Given the description of an element on the screen output the (x, y) to click on. 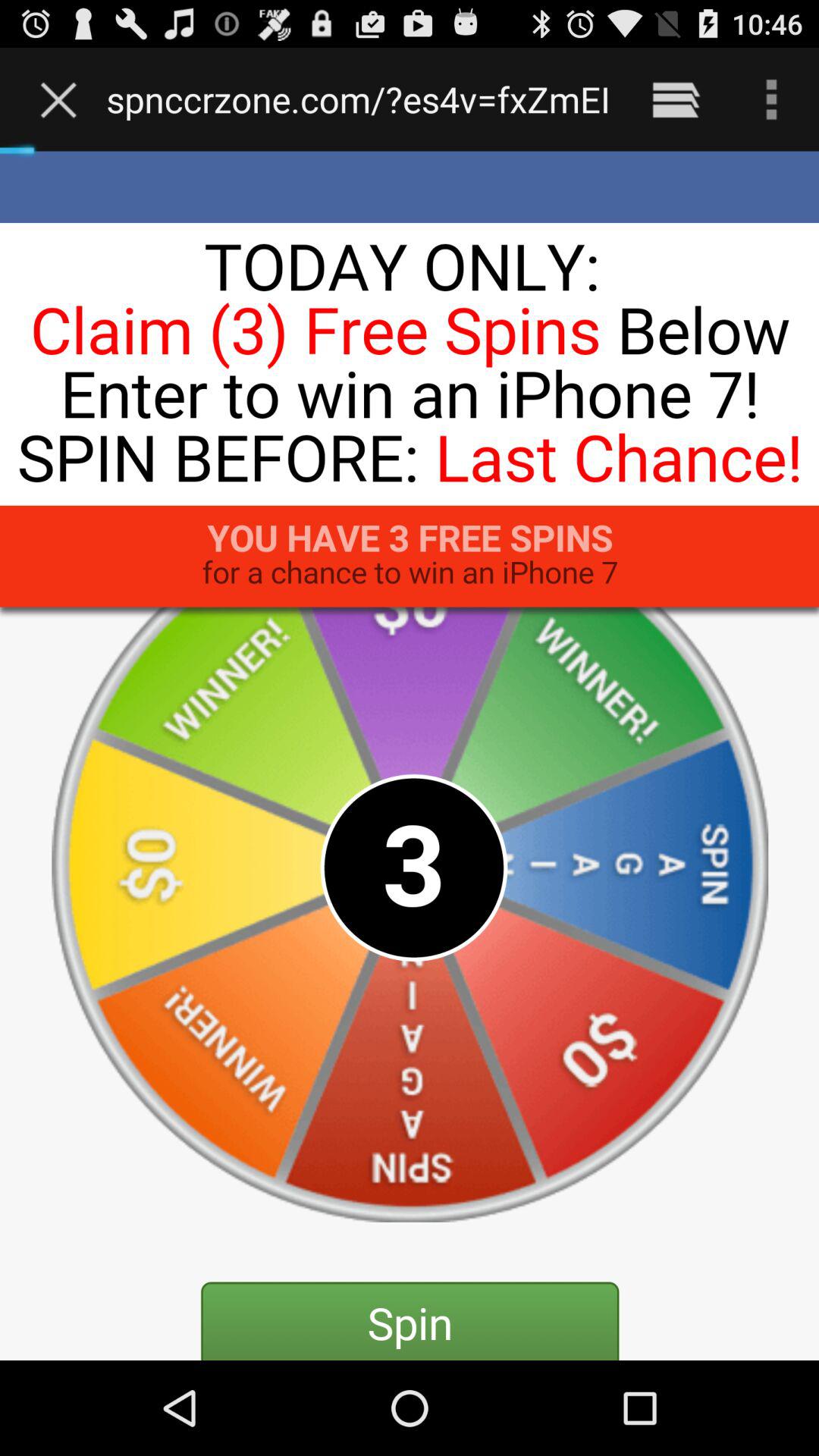
click www electronicproductzone com (357, 99)
